Given the description of an element on the screen output the (x, y) to click on. 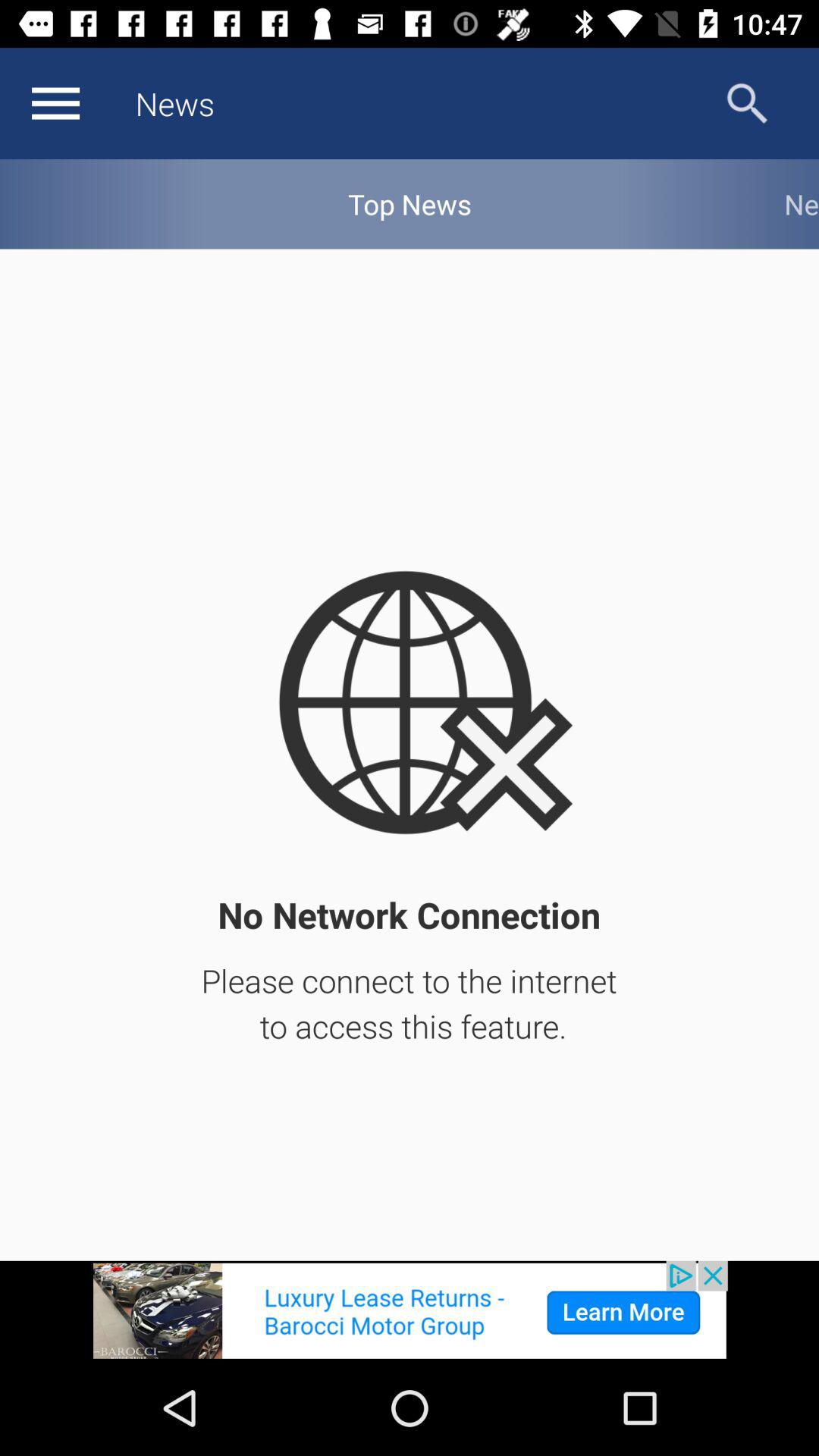
go to storage (55, 103)
